Given the description of an element on the screen output the (x, y) to click on. 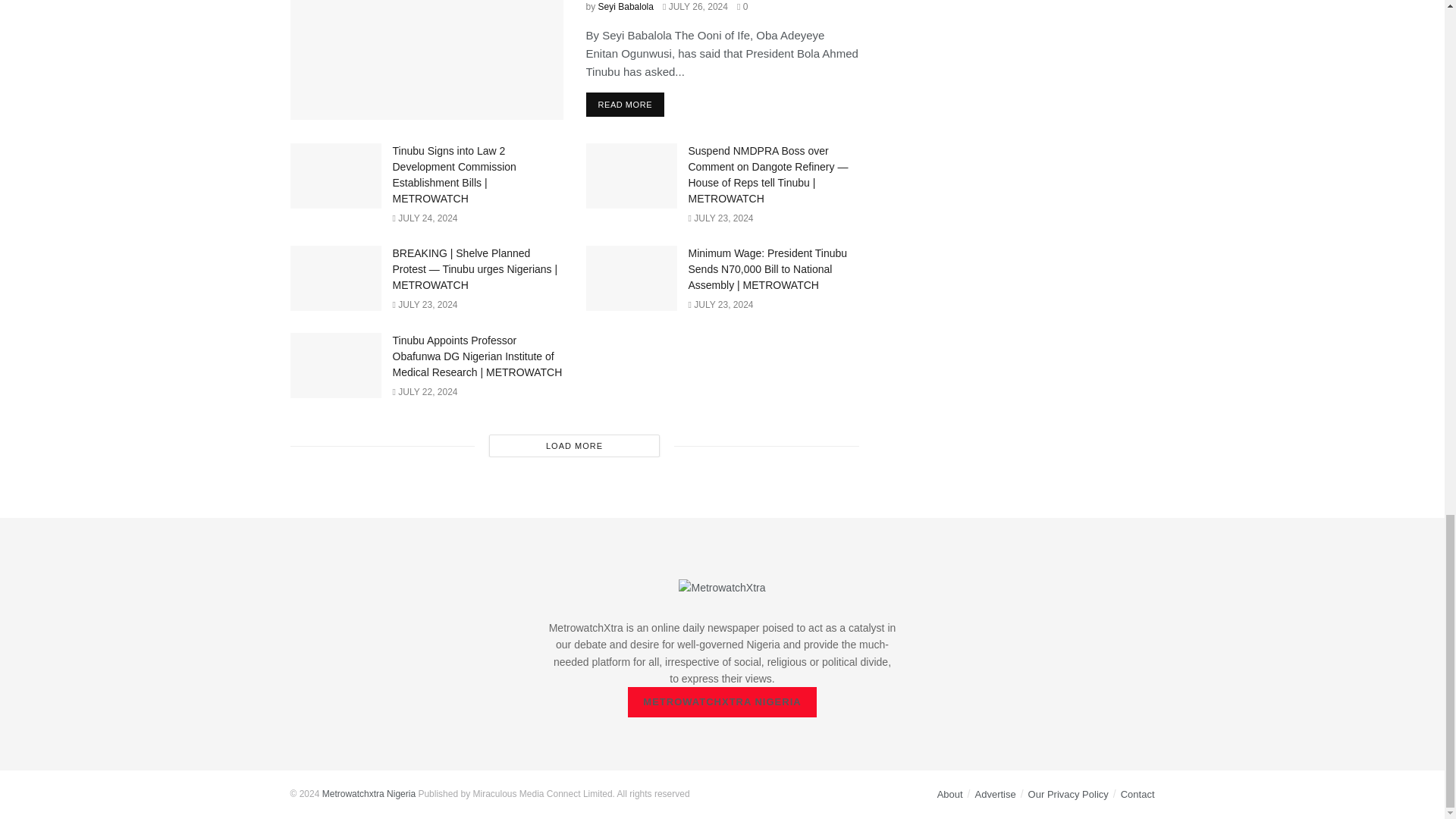
Metrowatch Nigeria (367, 793)
